Given the description of an element on the screen output the (x, y) to click on. 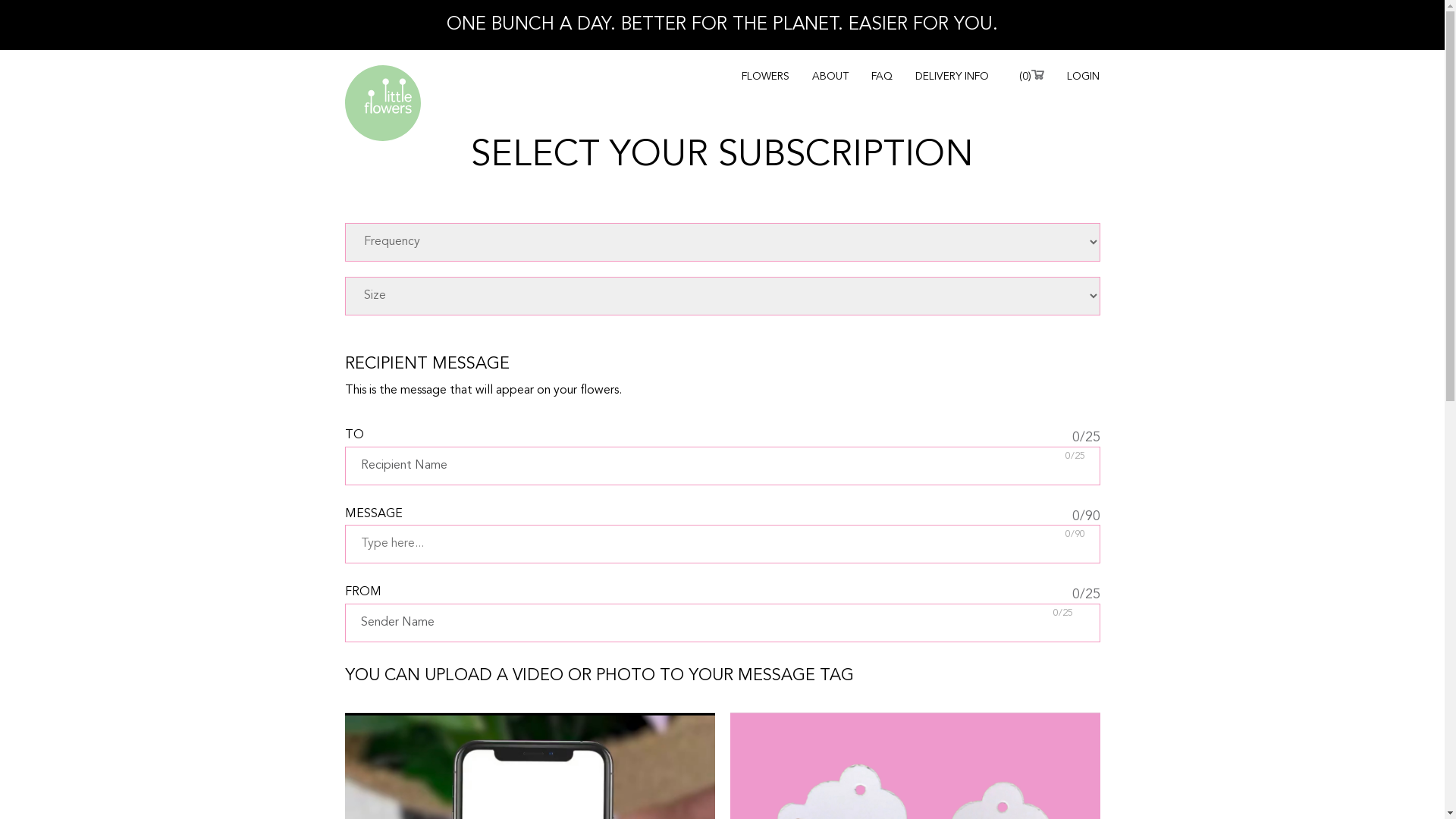
(0) Element type: text (1031, 76)
LOGIN Element type: text (1082, 76)
DELIVERY INFO Element type: text (951, 76)
FLOWERS Element type: text (765, 76)
FAQ Element type: text (881, 76)
Video Element type: text (7, 4)
Cart Element type: hover (1037, 74)
ABOUT Element type: text (830, 76)
